Given the description of an element on the screen output the (x, y) to click on. 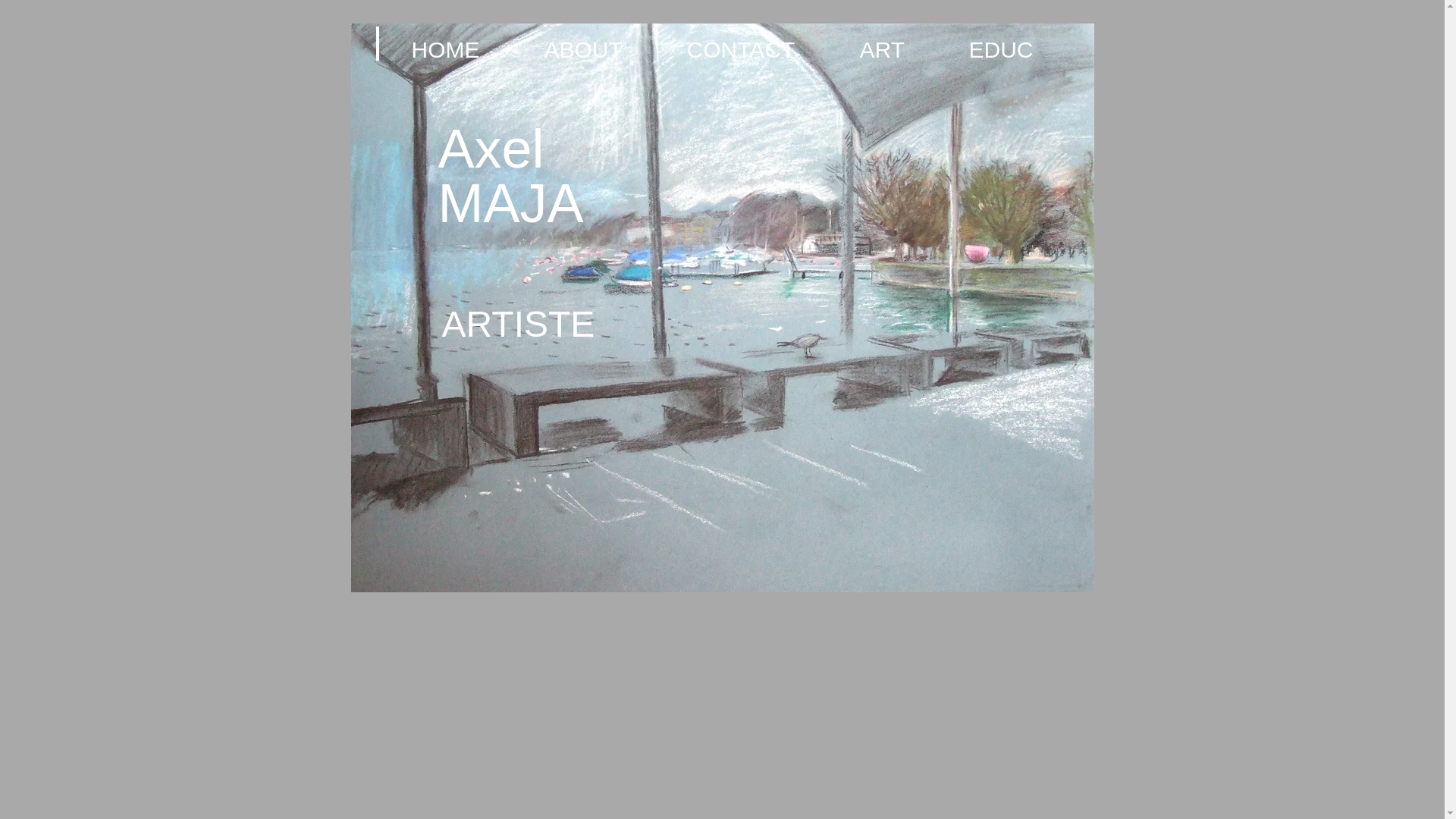
ART Element type: text (902, 49)
CONTACT Element type: text (760, 49)
EDUC Element type: text (1021, 49)
HOME Element type: text (466, 49)
Axel lac.jpg Element type: hover (721, 307)
ABOUT Element type: text (603, 49)
